Given the description of an element on the screen output the (x, y) to click on. 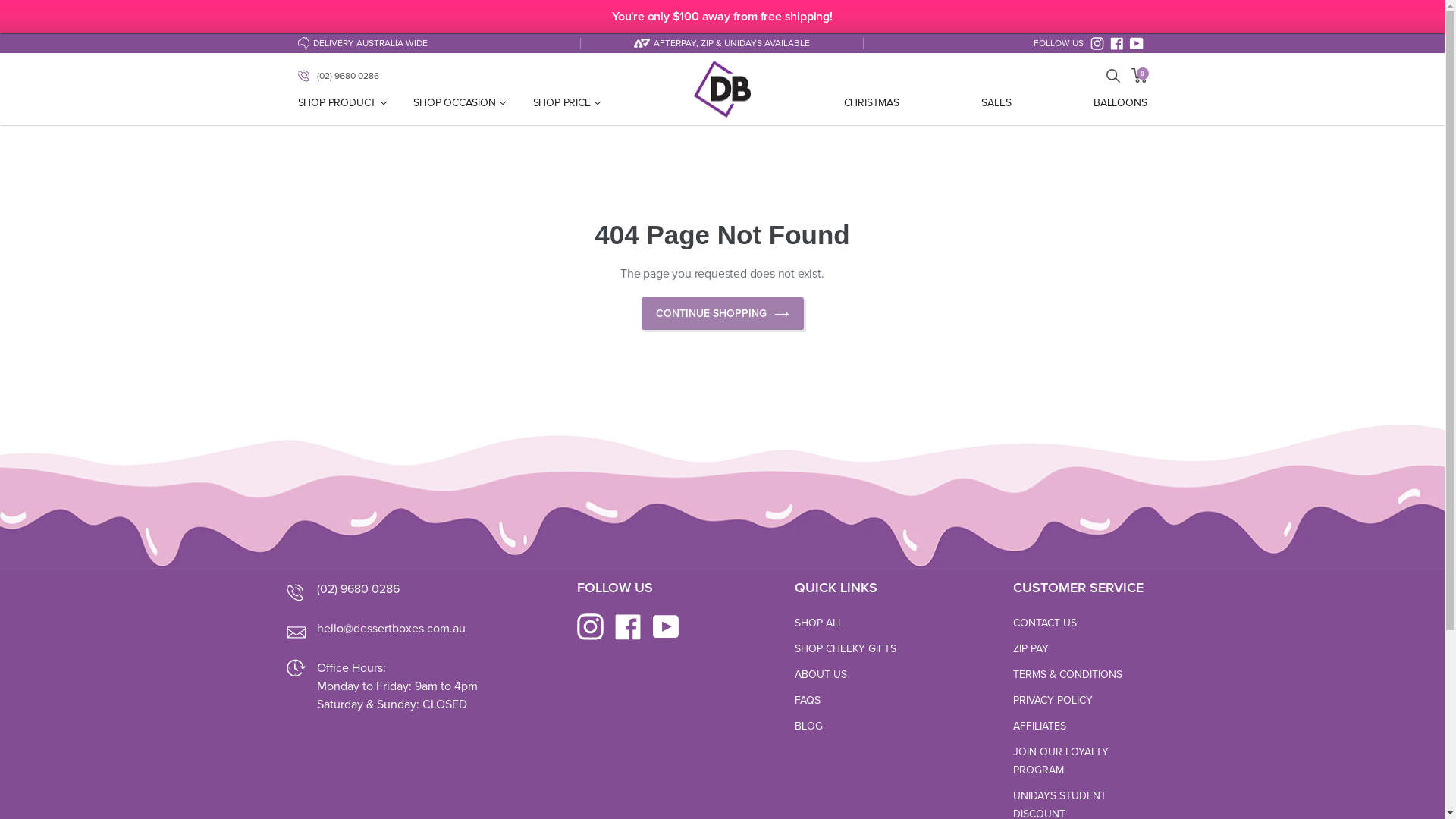
CHRISTMAS Element type: text (870, 101)
Instagram Element type: text (596, 626)
INSTAGRAM Element type: text (1097, 42)
AFTERPAY, ZIP & UNIDAYS AVAILABLE Element type: text (721, 43)
JOIN OUR LOYALTY PROGRAM Element type: text (1060, 760)
(02) 9680 0286 Element type: text (337, 74)
DELIVERY AUSTRALIA WIDE Element type: text (438, 43)
hello@dessertboxes.com.au Element type: text (390, 628)
BALLOONS Element type: text (1115, 101)
SHOP ALL Element type: text (818, 622)
(02) 9680 0286 Element type: text (357, 588)
BLOG Element type: text (808, 725)
FAQS Element type: text (807, 699)
PRIVACY POLICY Element type: text (1052, 699)
SHOP CHEEKY GIFTS Element type: text (845, 648)
ABOUT US Element type: text (820, 674)
Facebook Element type: text (633, 626)
AFFILIATES Element type: text (1039, 725)
ZIP PAY Element type: text (1030, 648)
FACEBOOK Element type: text (1116, 42)
TERMS & CONDITIONS Element type: text (1067, 674)
YOUTUBE Element type: text (1136, 42)
Cart
Cart
0 Element type: text (1139, 75)
CONTINUE SHOPPING Element type: text (722, 313)
CONTACT US Element type: text (1044, 622)
SALES Element type: text (995, 101)
YouTube Element type: text (671, 626)
